Given the description of an element on the screen output the (x, y) to click on. 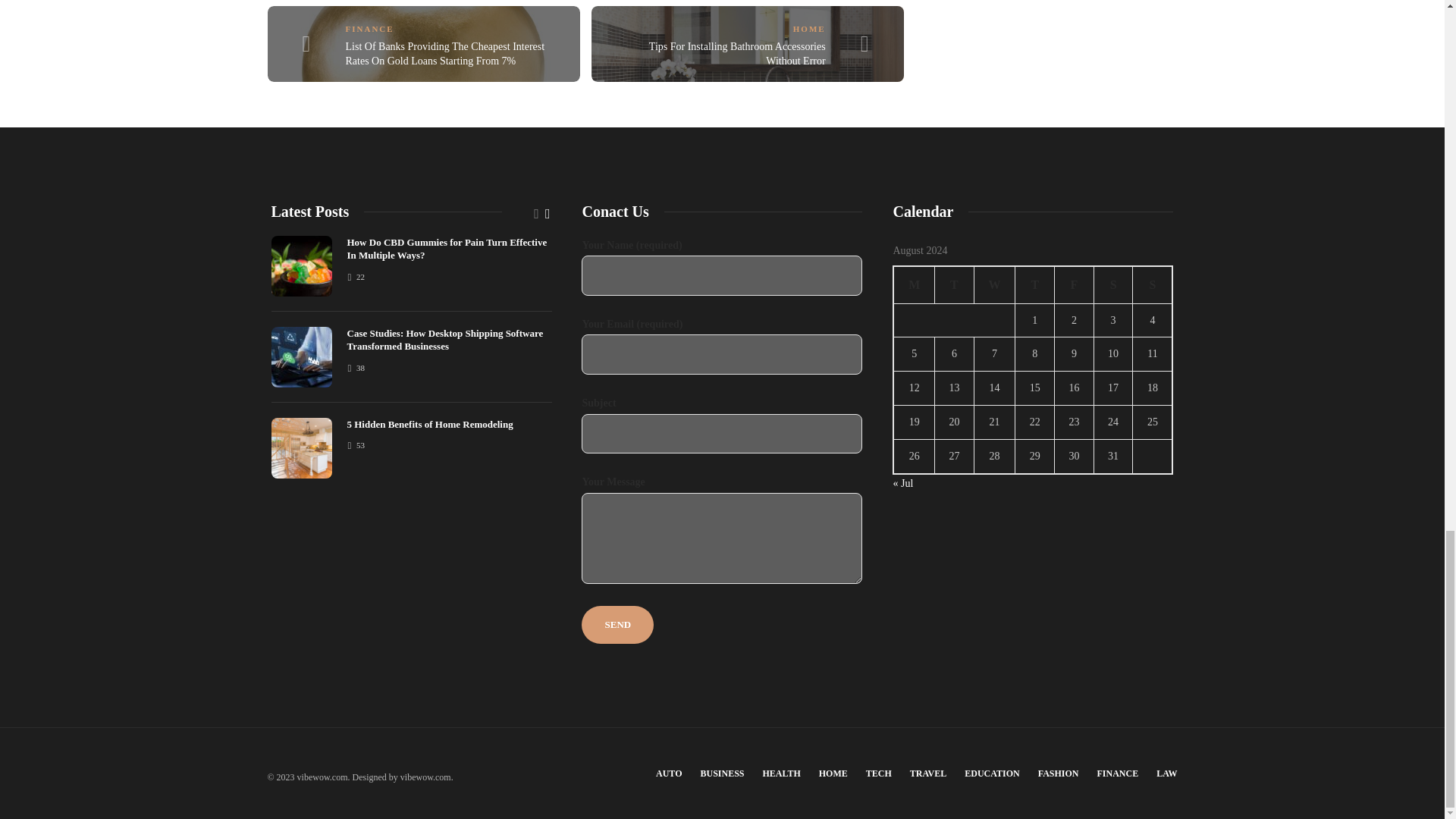
Send (616, 624)
Tuesday (954, 284)
Friday (1074, 284)
Saturday (1112, 284)
Thursday (1034, 284)
Wednesday (994, 284)
Sunday (1152, 284)
Monday (913, 284)
